Given the description of an element on the screen output the (x, y) to click on. 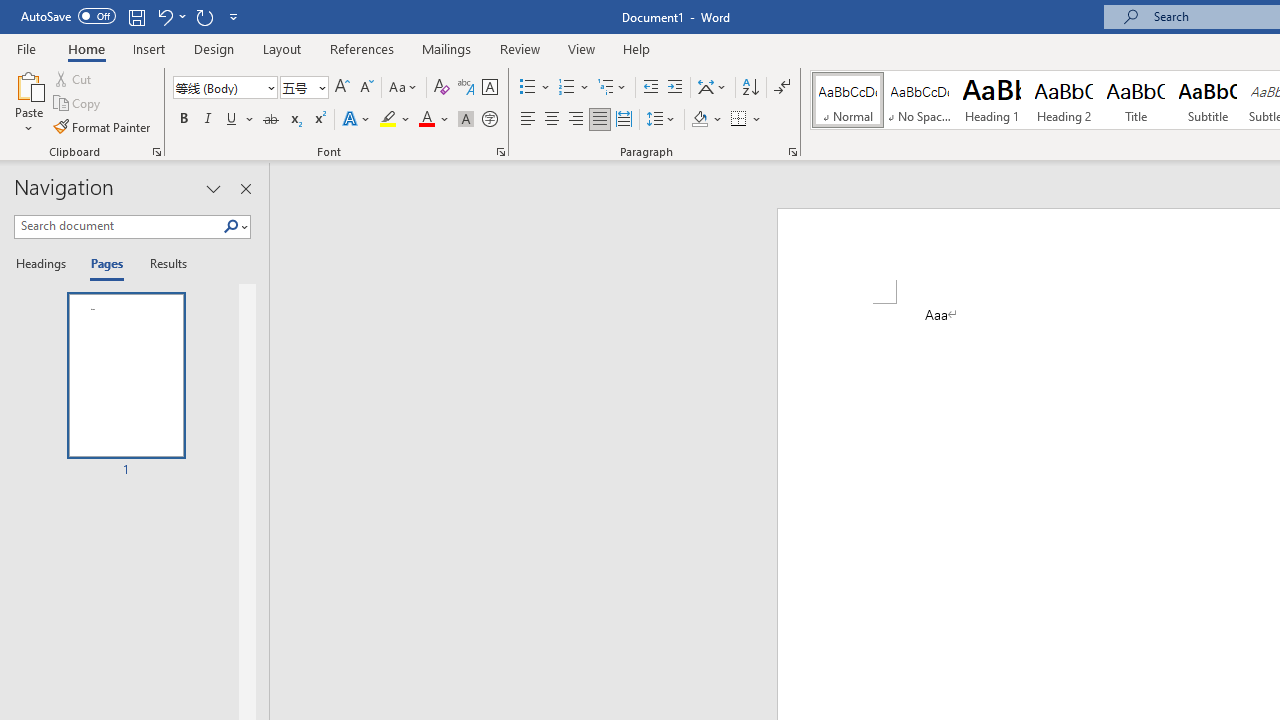
Show/Hide Editing Marks (781, 87)
Font Color (434, 119)
Sort... (750, 87)
Align Right (575, 119)
Asian Layout (712, 87)
File Tab (26, 48)
Borders (739, 119)
Repeat Increase Indent (204, 15)
Center (552, 119)
Close pane (246, 188)
Font Size (297, 87)
Strikethrough (270, 119)
Multilevel List (613, 87)
Text Highlight Color Yellow (388, 119)
Character Border (489, 87)
